Given the description of an element on the screen output the (x, y) to click on. 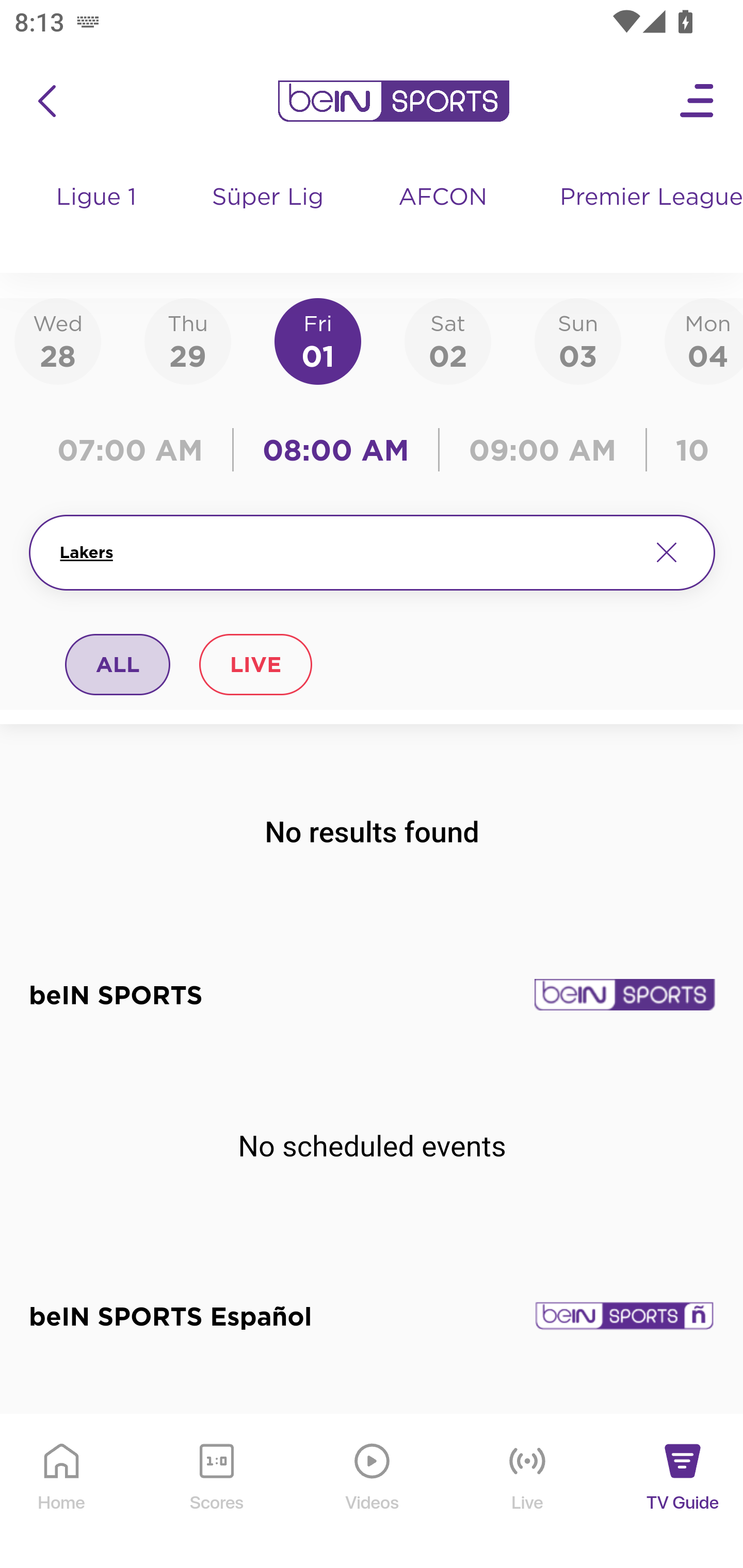
en-us?platform=mobile_android bein logo (392, 101)
icon back (46, 101)
Open Menu Icon (697, 101)
Ligue 1 (97, 216)
Süper Lig (268, 216)
AFCON (442, 198)
Premier League (643, 198)
Wed28 (58, 340)
Thu29 (187, 340)
Fri01 (318, 340)
Sat02 (447, 340)
Sun03 (578, 340)
Mon04 (703, 340)
07:00 AM (135, 449)
08:00 AM (336, 449)
09:00 AM (542, 449)
Lakers (346, 552)
ALL (118, 663)
LIVE (255, 663)
Home Home Icon Home (61, 1491)
Scores Scores Icon Scores (216, 1491)
Videos Videos Icon Videos (372, 1491)
TV Guide TV Guide Icon TV Guide (682, 1491)
